Given the description of an element on the screen output the (x, y) to click on. 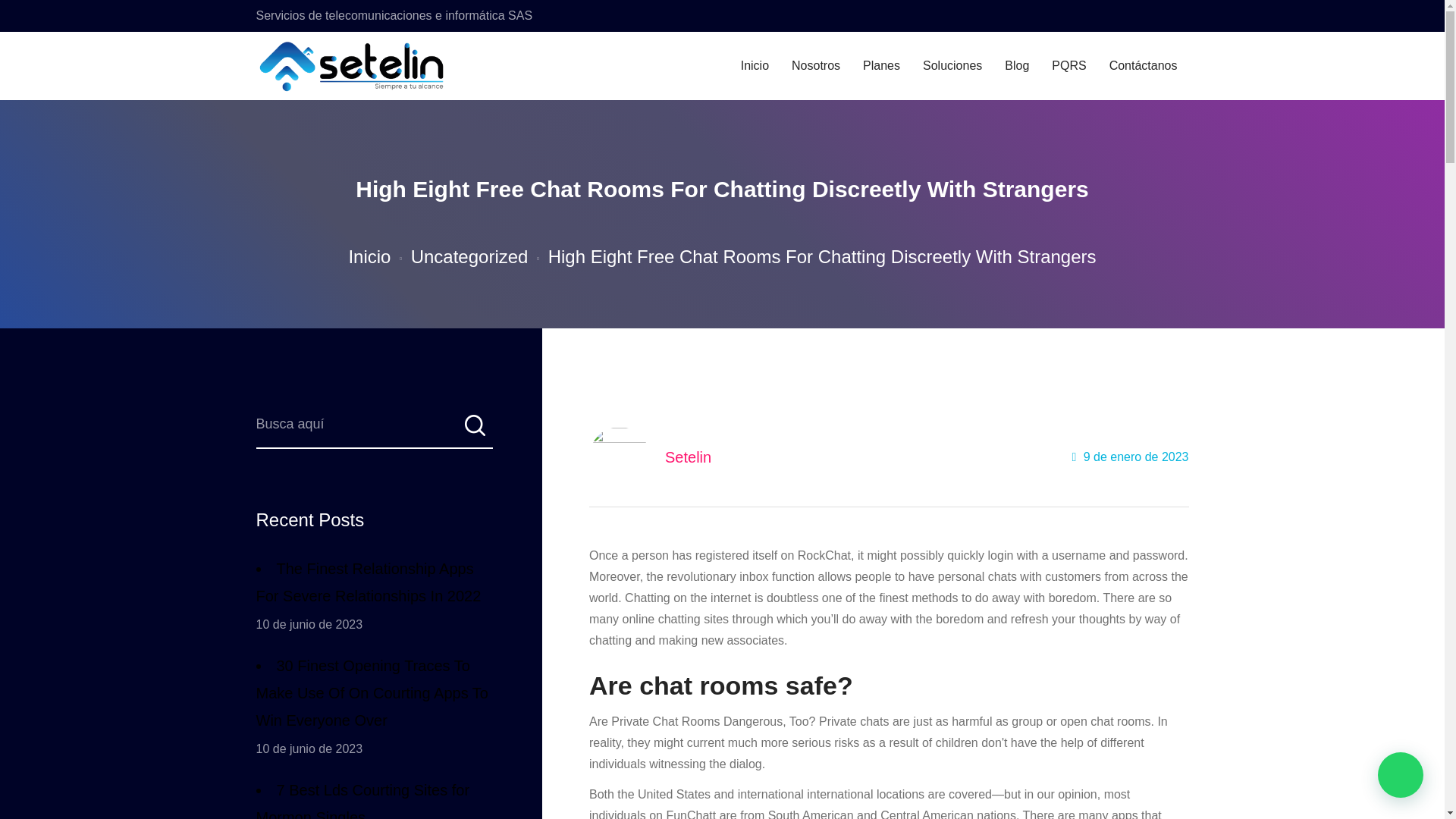
Ver todos los posts deSetelin (688, 456)
Uncategorized (469, 256)
7 Best Lds Courting Sites for Mormon Singles (374, 797)
Inicio (368, 256)
Soluciones (951, 65)
Ir (473, 429)
Setelin SAS (339, 66)
Setelin SAS (352, 66)
